Given the description of an element on the screen output the (x, y) to click on. 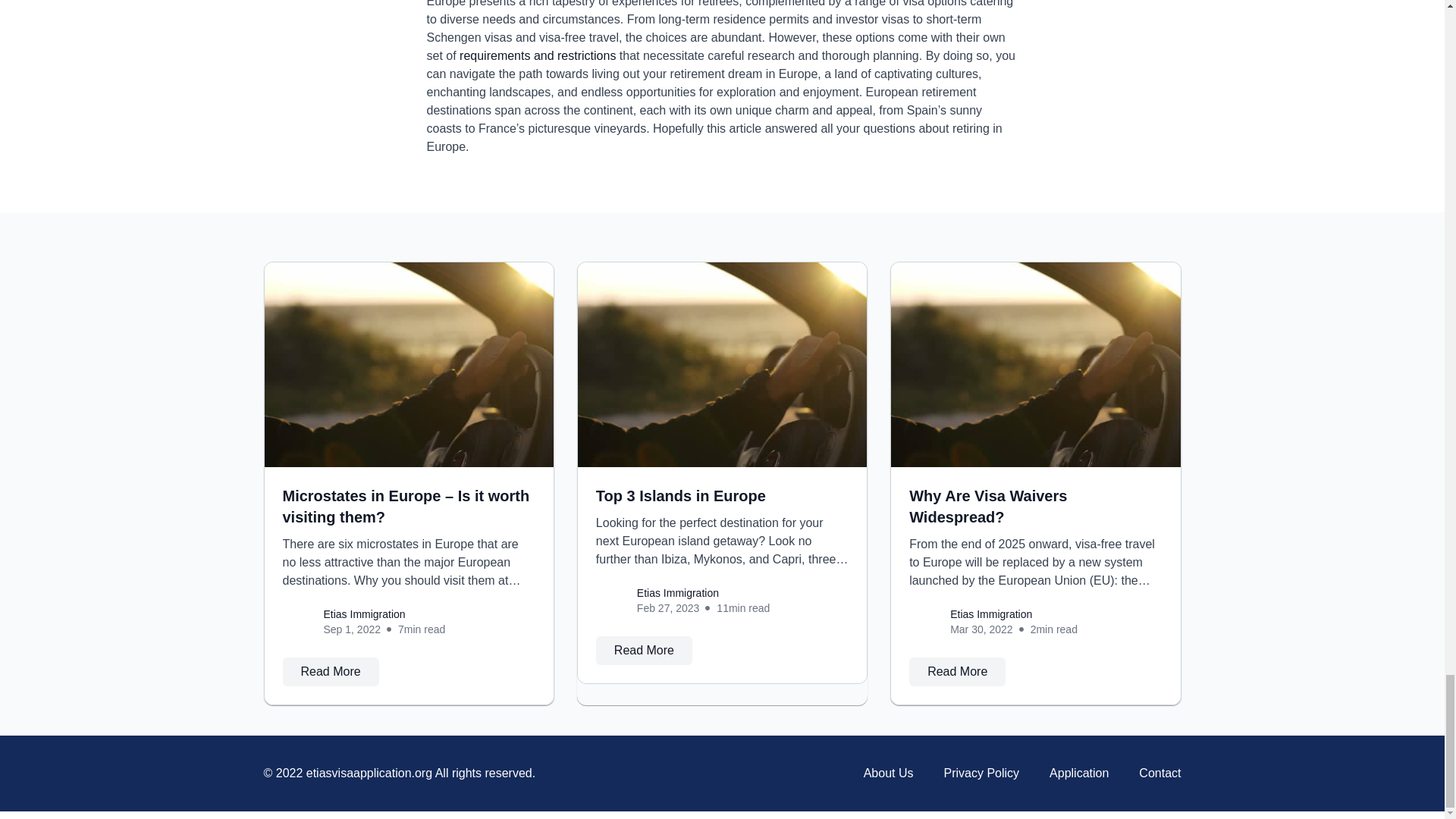
requirements and restrictions (537, 55)
Read More (644, 650)
Privacy Policy (981, 773)
Application (1078, 773)
Why Are Visa Waivers Widespread? (987, 506)
Contact (1159, 773)
About Us (888, 773)
Read More (330, 671)
Top 3 Islands in Europe (680, 495)
Read More (957, 671)
